Given the description of an element on the screen output the (x, y) to click on. 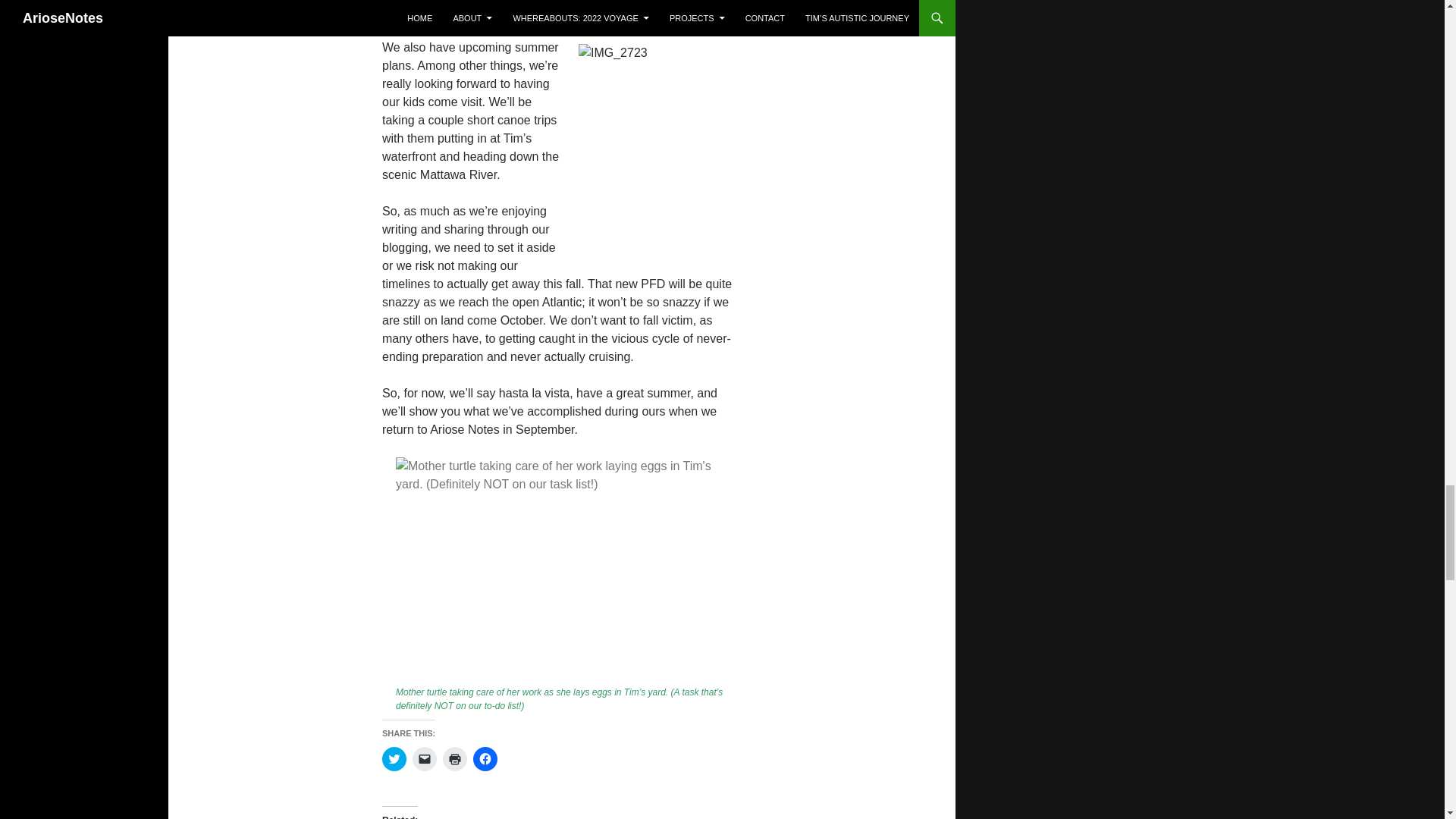
Click to print (454, 758)
Click to share on Facebook (485, 758)
Click to email a link to a friend (424, 758)
Click to share on Twitter (393, 758)
